Given the description of an element on the screen output the (x, y) to click on. 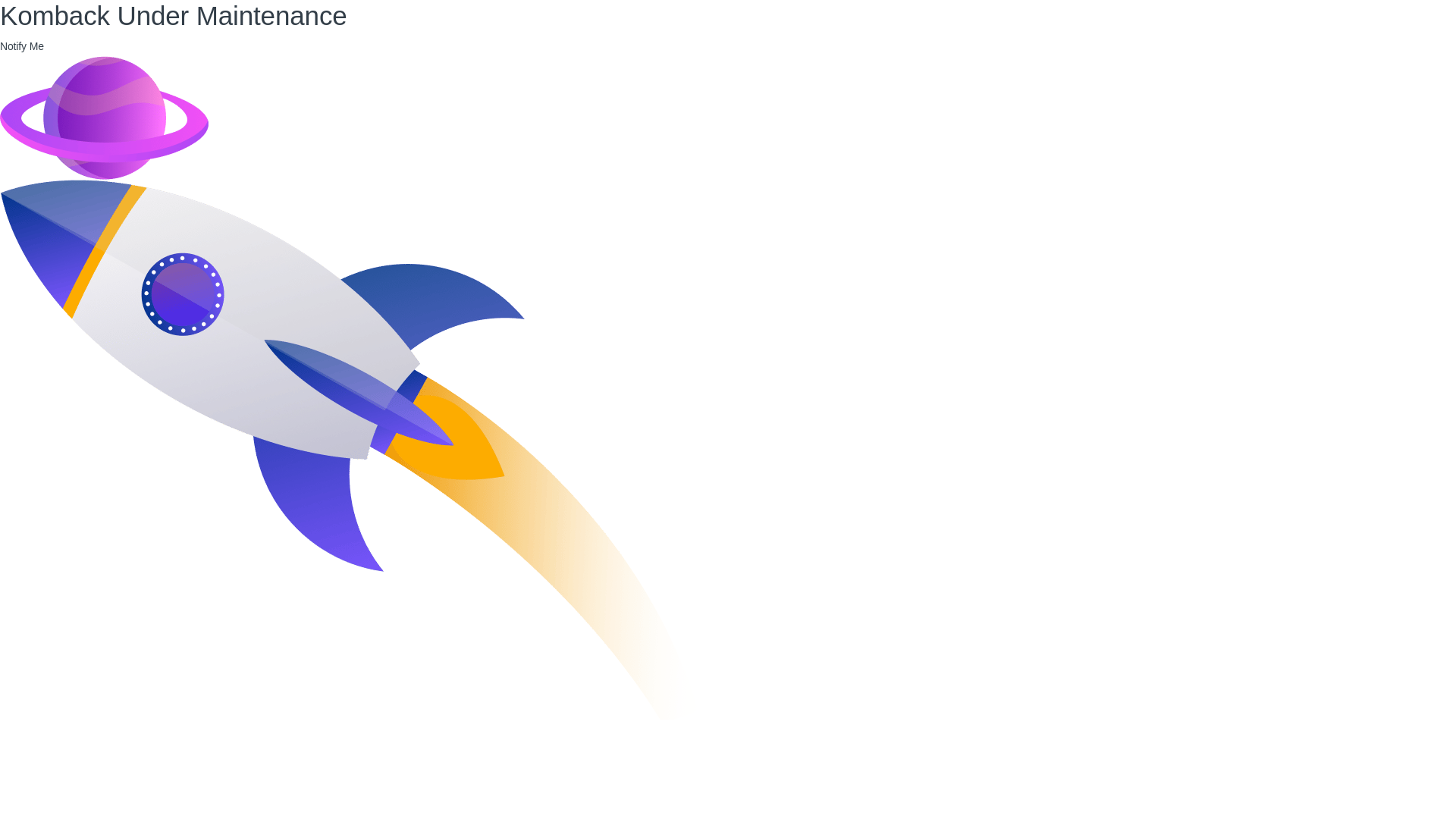
Notify Me (21, 46)
